Given the description of an element on the screen output the (x, y) to click on. 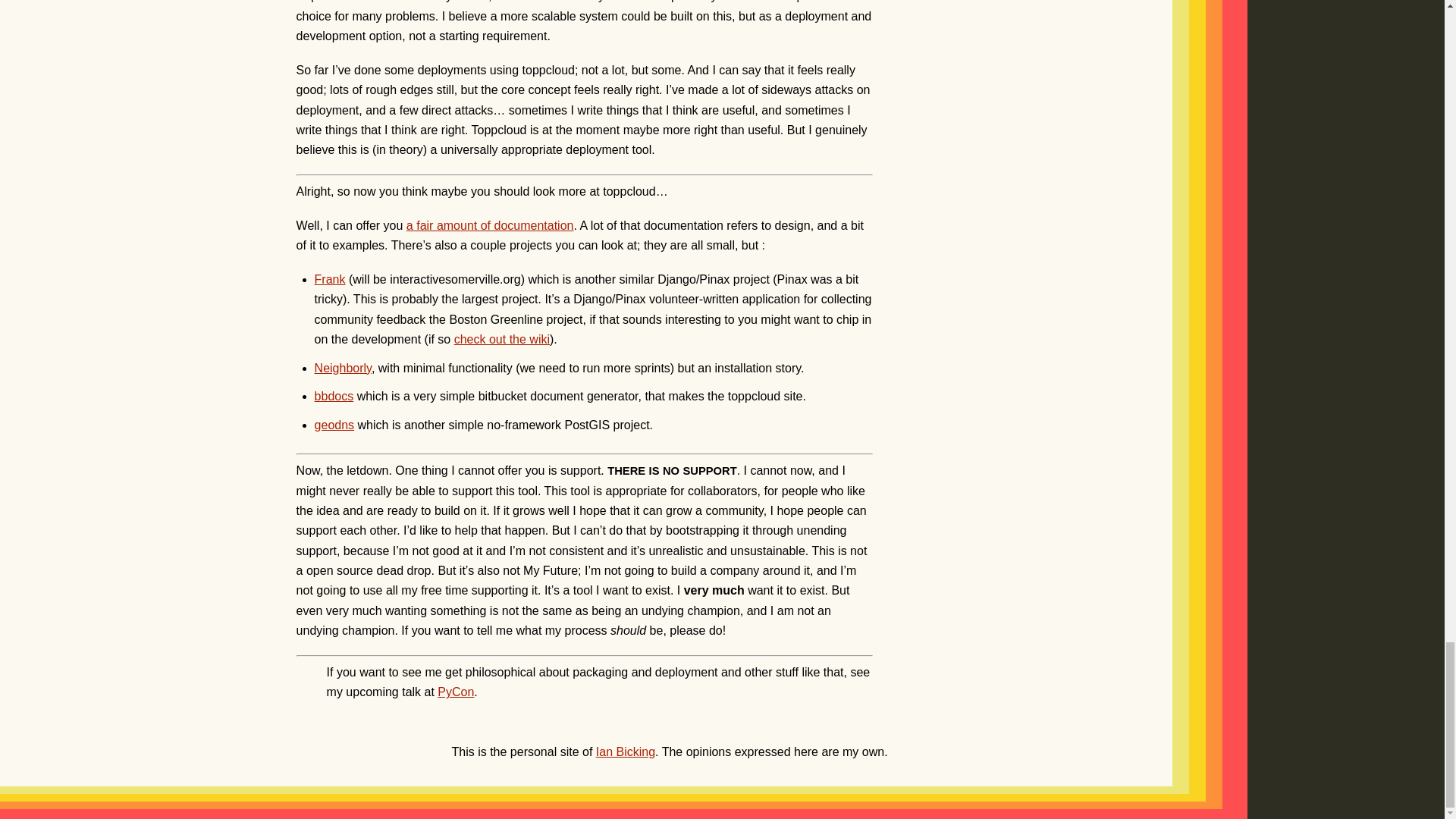
bbdocs (333, 395)
Frank (330, 278)
a fair amount of documentation (489, 225)
geodns (334, 424)
check out the wiki (502, 338)
PyCon (456, 691)
Neighborly (342, 367)
